Given the description of an element on the screen output the (x, y) to click on. 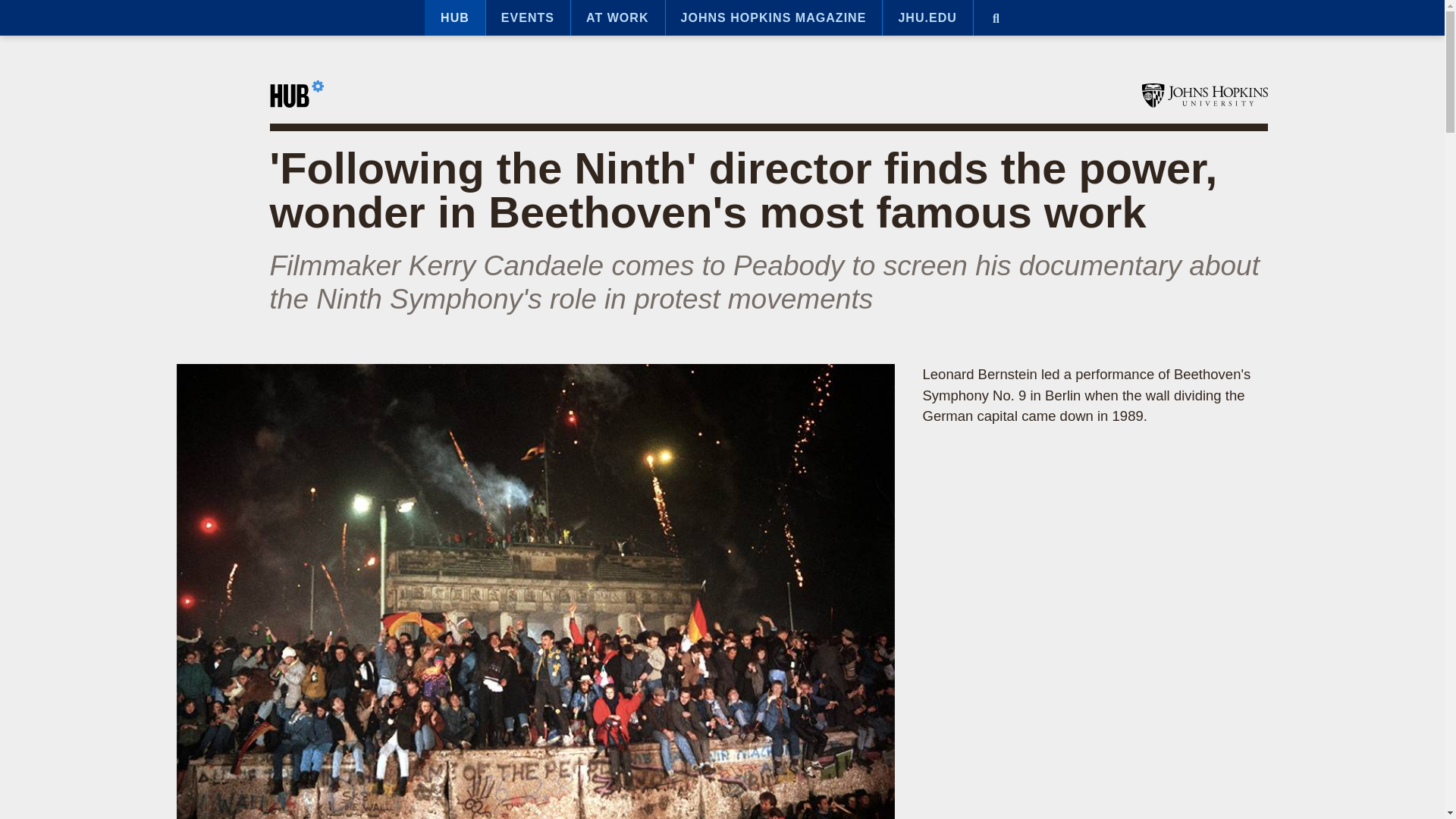
JOHNS HOPKINS MAGAZINE (773, 18)
JHU.EDU (927, 18)
AT WORK (616, 18)
Johns Hopkins University (1204, 95)
HUB (454, 18)
EVENTS (527, 18)
